Given the description of an element on the screen output the (x, y) to click on. 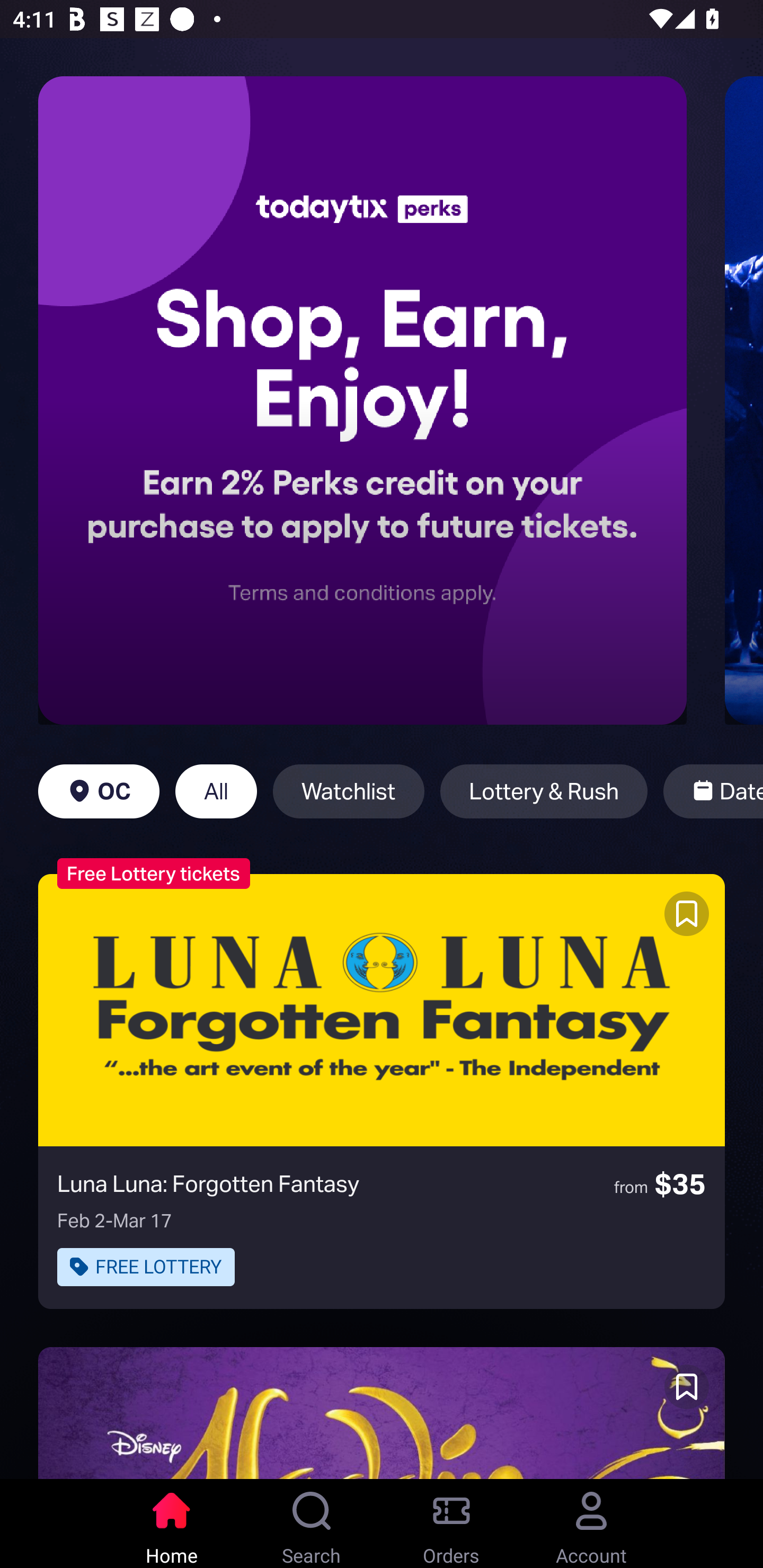
OC (98, 791)
All (216, 791)
Watchlist (348, 791)
Lottery & Rush (543, 791)
Search (311, 1523)
Orders (451, 1523)
Account (591, 1523)
